Given the description of an element on the screen output the (x, y) to click on. 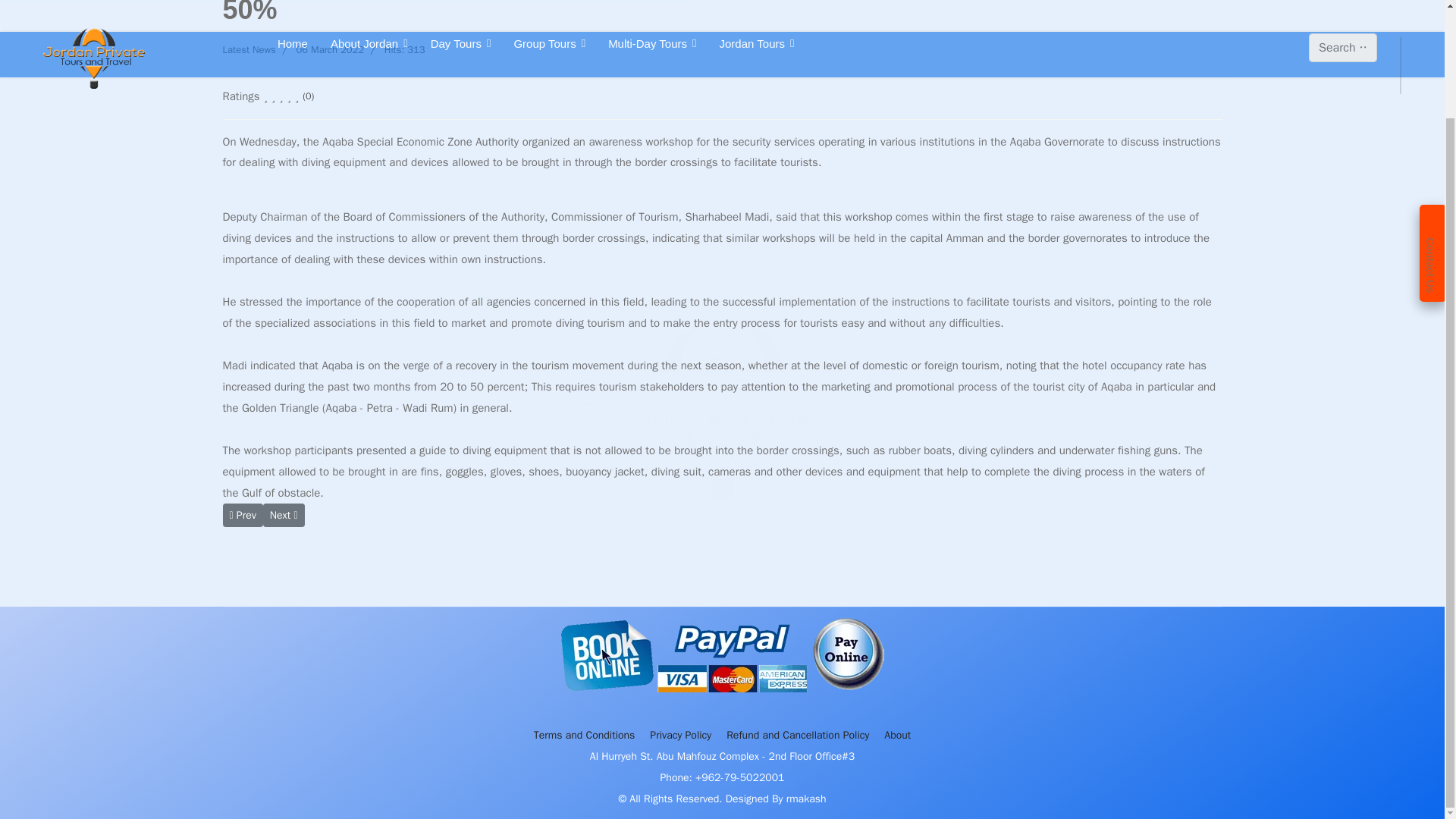
About Jordan Petra Private Tours (897, 735)
Created: 06 March 2022 (320, 49)
Category: Latest News (249, 49)
